Given the description of an element on the screen output the (x, y) to click on. 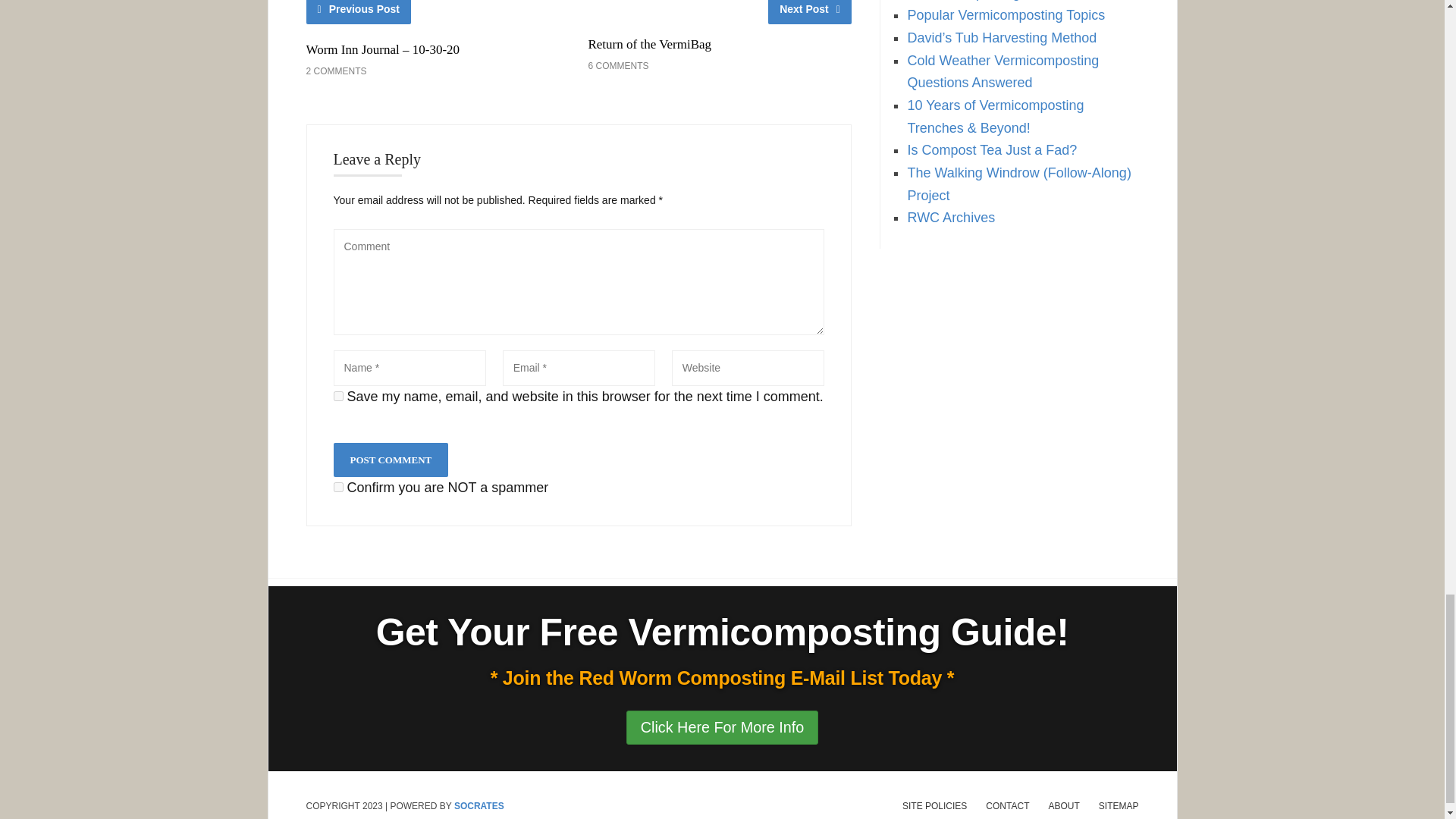
Post Comment (390, 459)
on (338, 487)
2 COMMENTS (335, 71)
yes (338, 396)
6 COMMENTS (617, 65)
Next Post (809, 12)
Previous Post (358, 12)
Return of the VermiBag (649, 43)
Post Comment (390, 459)
